Given the description of an element on the screen output the (x, y) to click on. 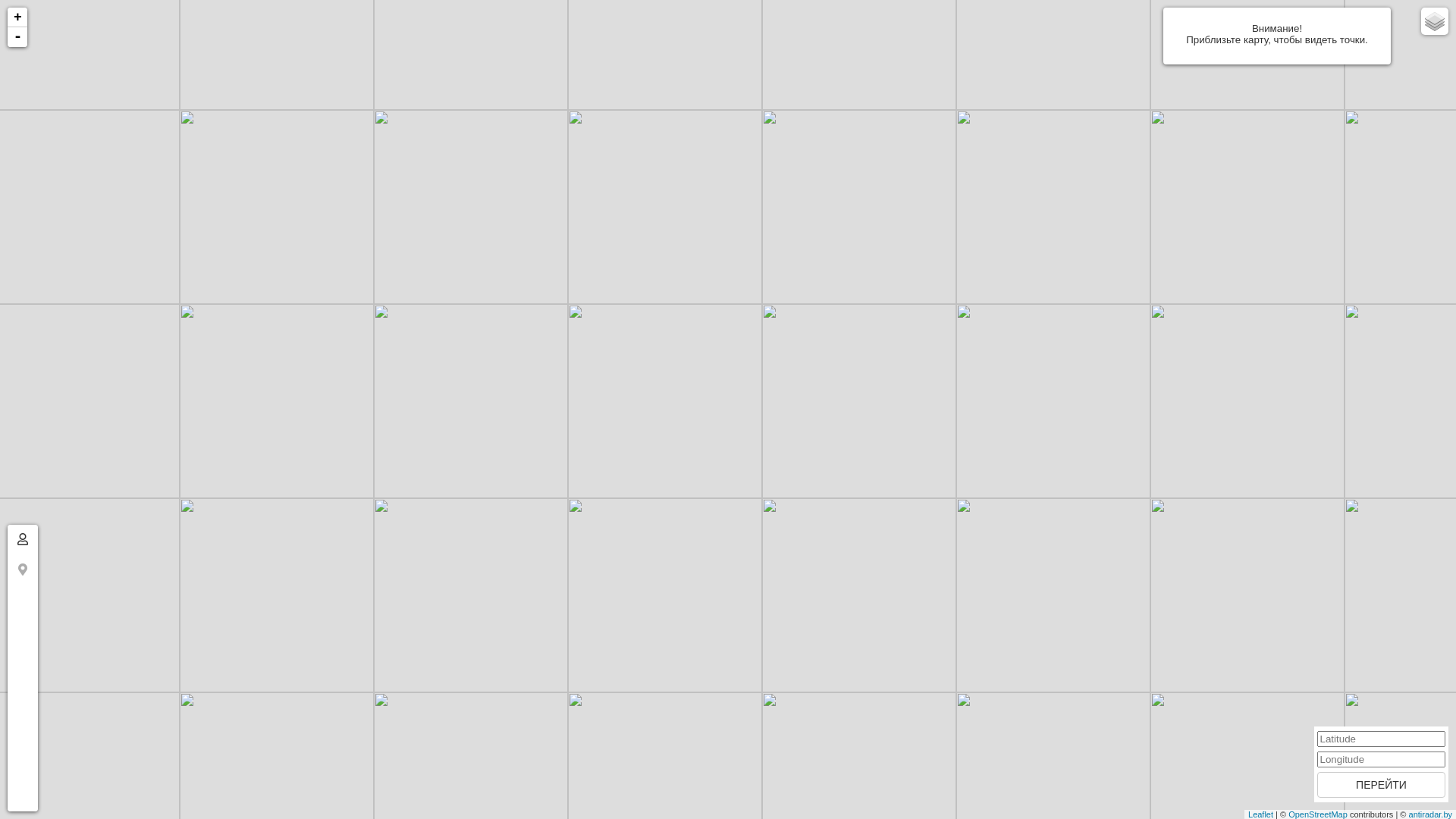
Layers Element type: hover (1434, 20)
+ Element type: text (17, 17)
- Element type: text (17, 37)
